Given the description of an element on the screen output the (x, y) to click on. 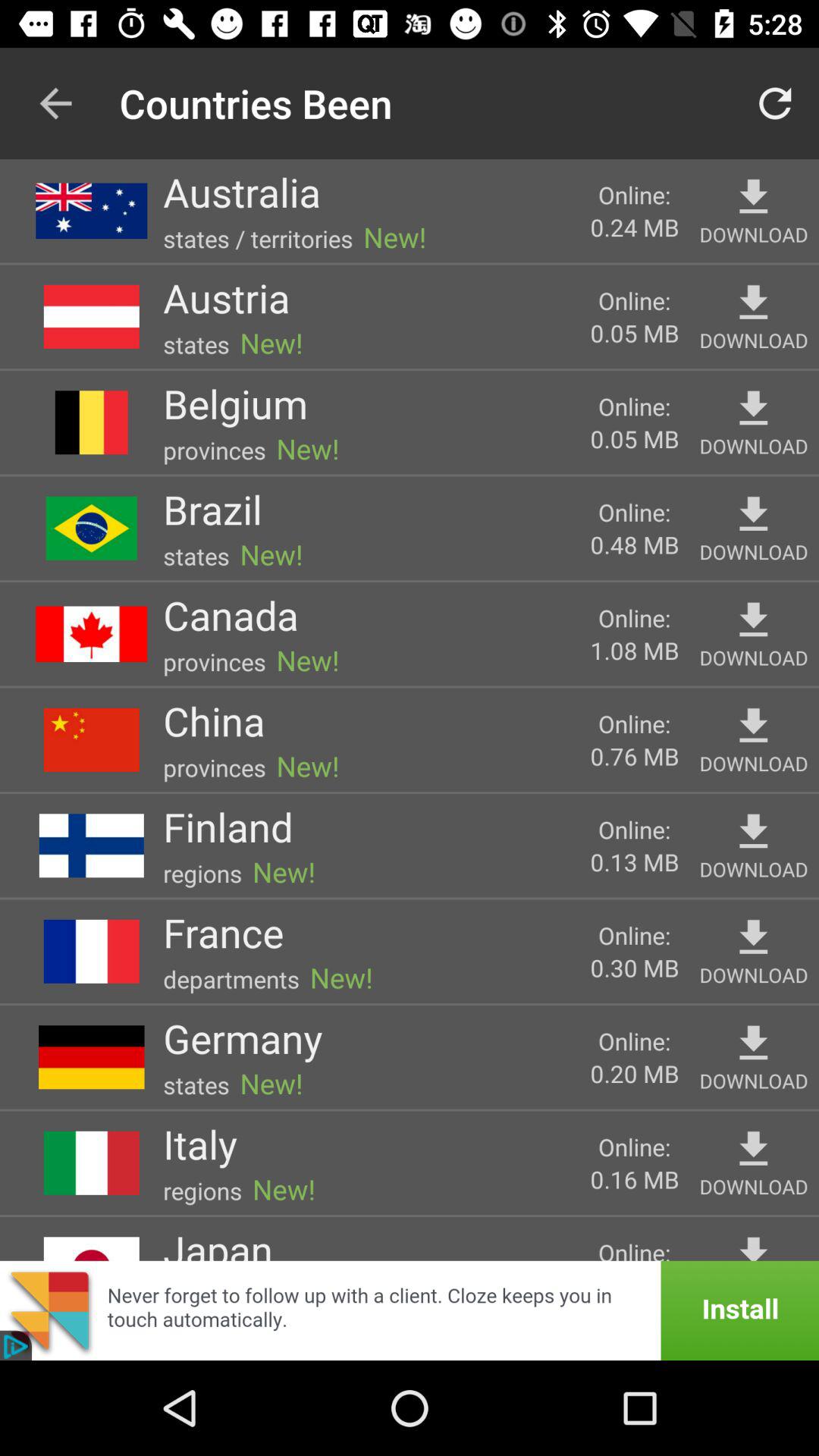
turn on the item to the left of the new! icon (200, 1143)
